Given the description of an element on the screen output the (x, y) to click on. 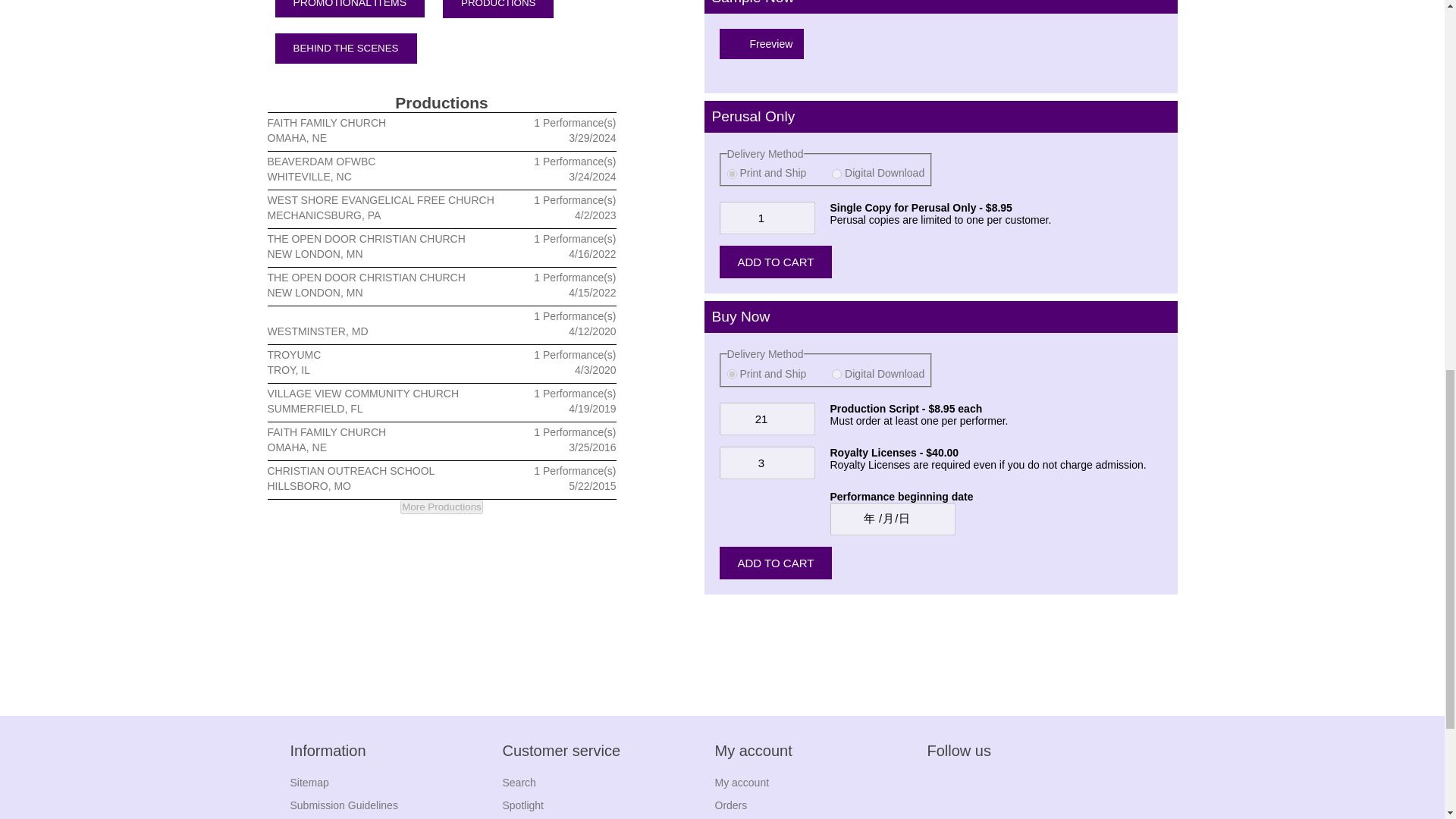
false (731, 374)
true (836, 173)
21 (766, 418)
1 (766, 217)
3 (766, 462)
Add to cart (775, 261)
PROMOTIONAL ITEMS (350, 8)
Add to Cart (775, 563)
true (836, 374)
false (731, 173)
